Given the description of an element on the screen output the (x, y) to click on. 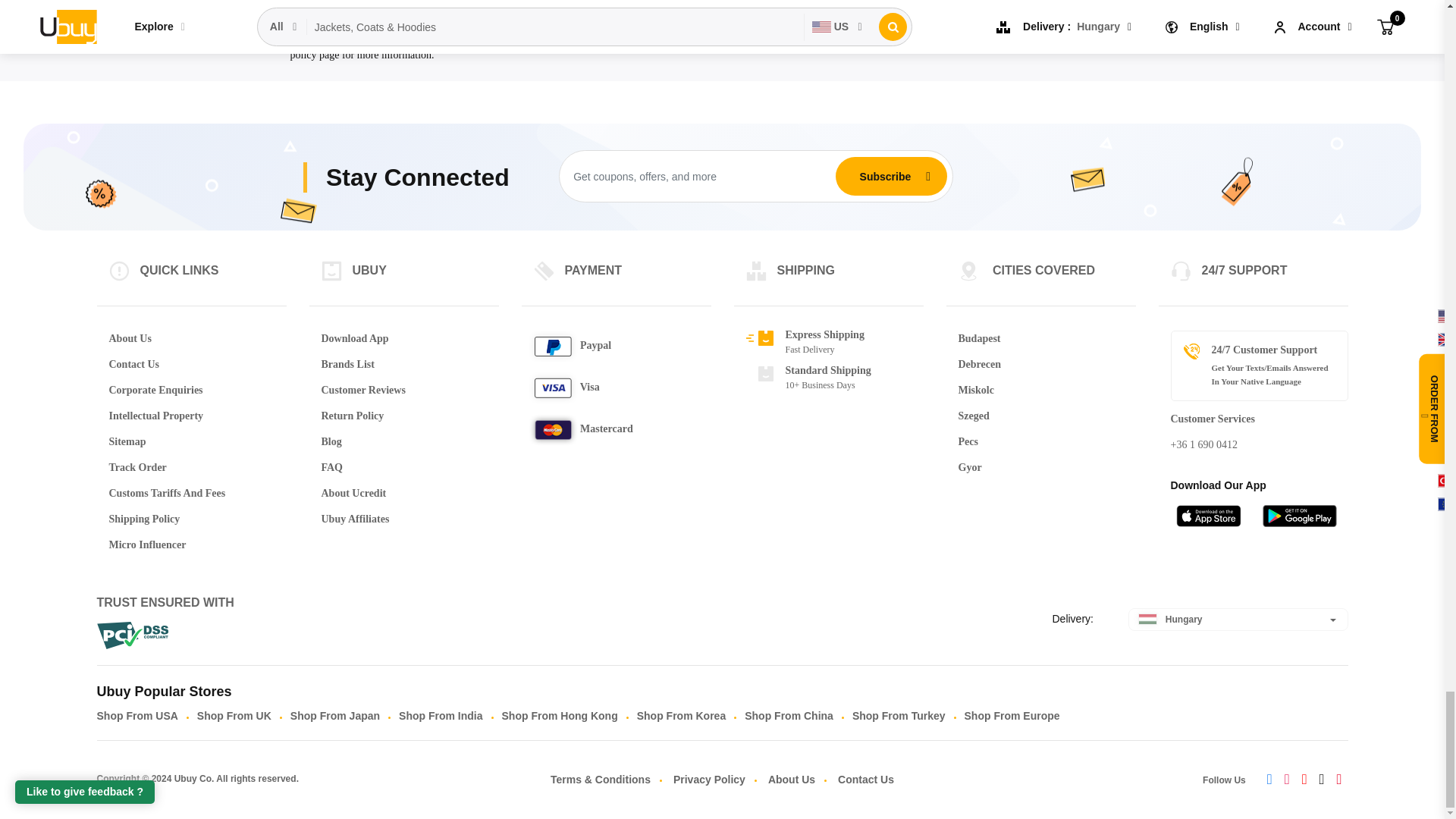
Subscribe (885, 175)
